Given the description of an element on the screen output the (x, y) to click on. 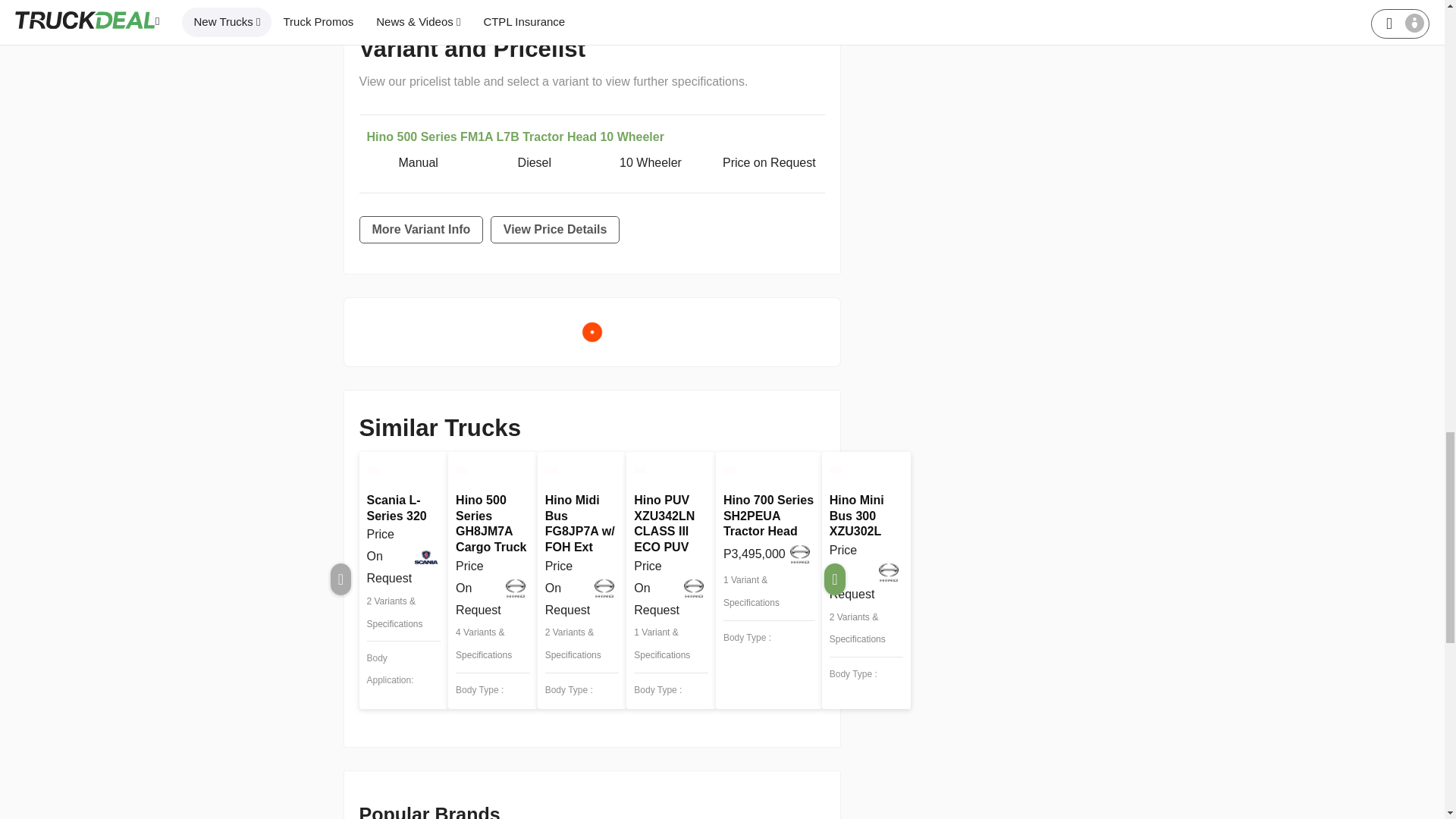
More Variant Info (421, 229)
View Price Details (555, 229)
Hino 500 Series FM1A L7B Tractor Head 10 Wheeler (514, 136)
Scania L-Series 320 (396, 505)
